Given the description of an element on the screen output the (x, y) to click on. 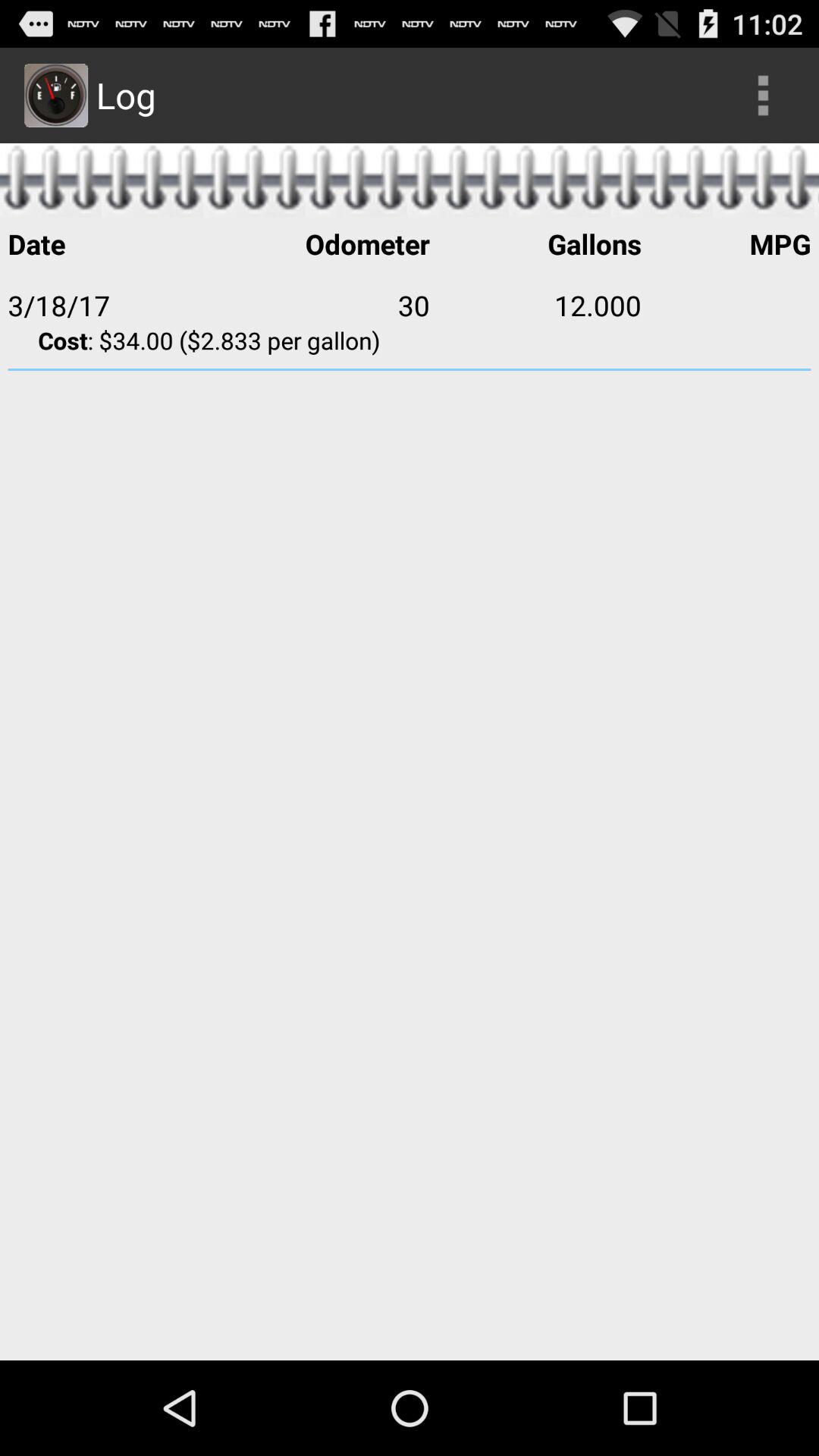
turn off app below 3/18/17 (409, 340)
